Given the description of an element on the screen output the (x, y) to click on. 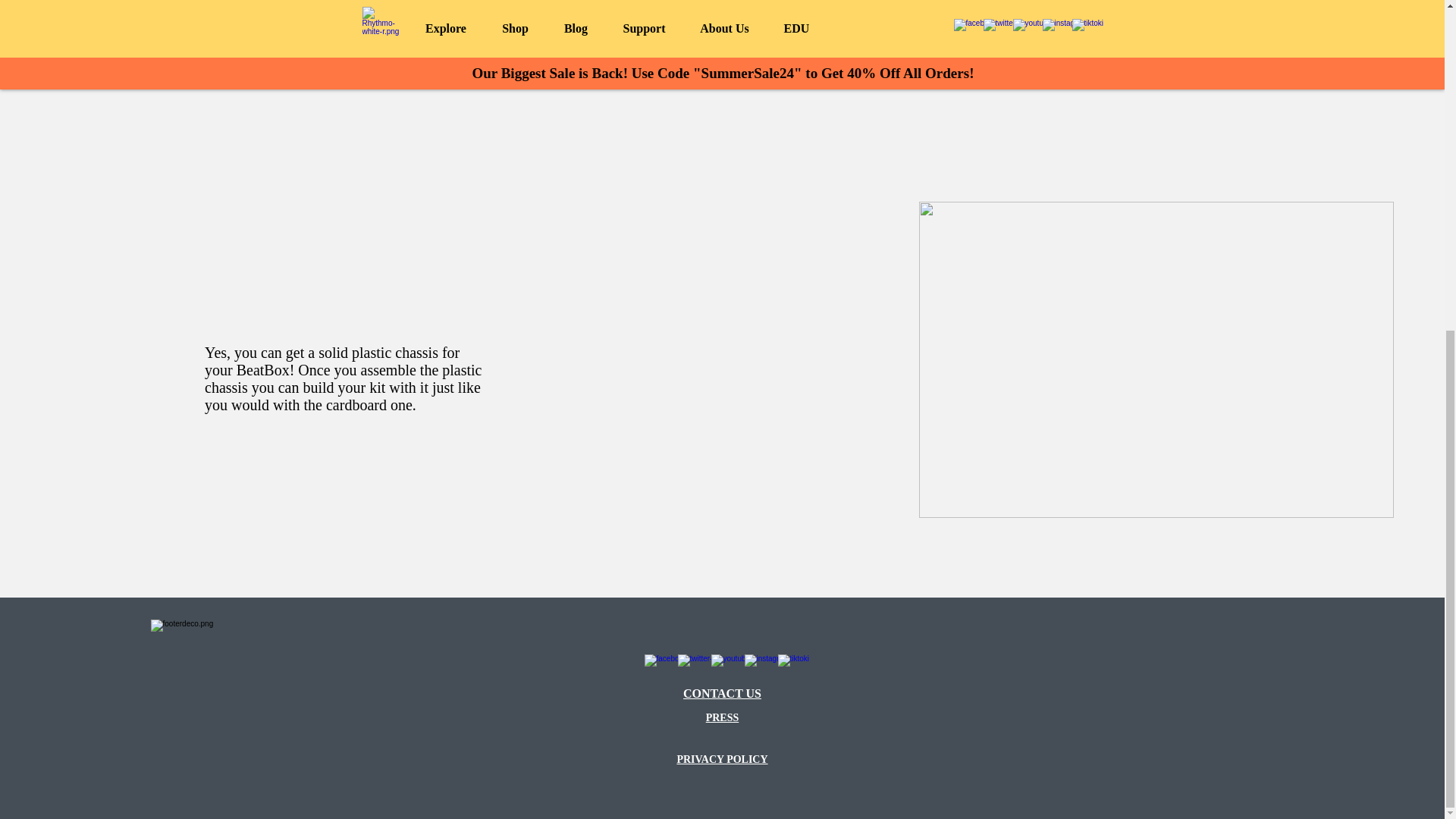
CONTACT US (721, 693)
PRESS (722, 717)
PRIVACY POLICY (722, 758)
